Given the description of an element on the screen output the (x, y) to click on. 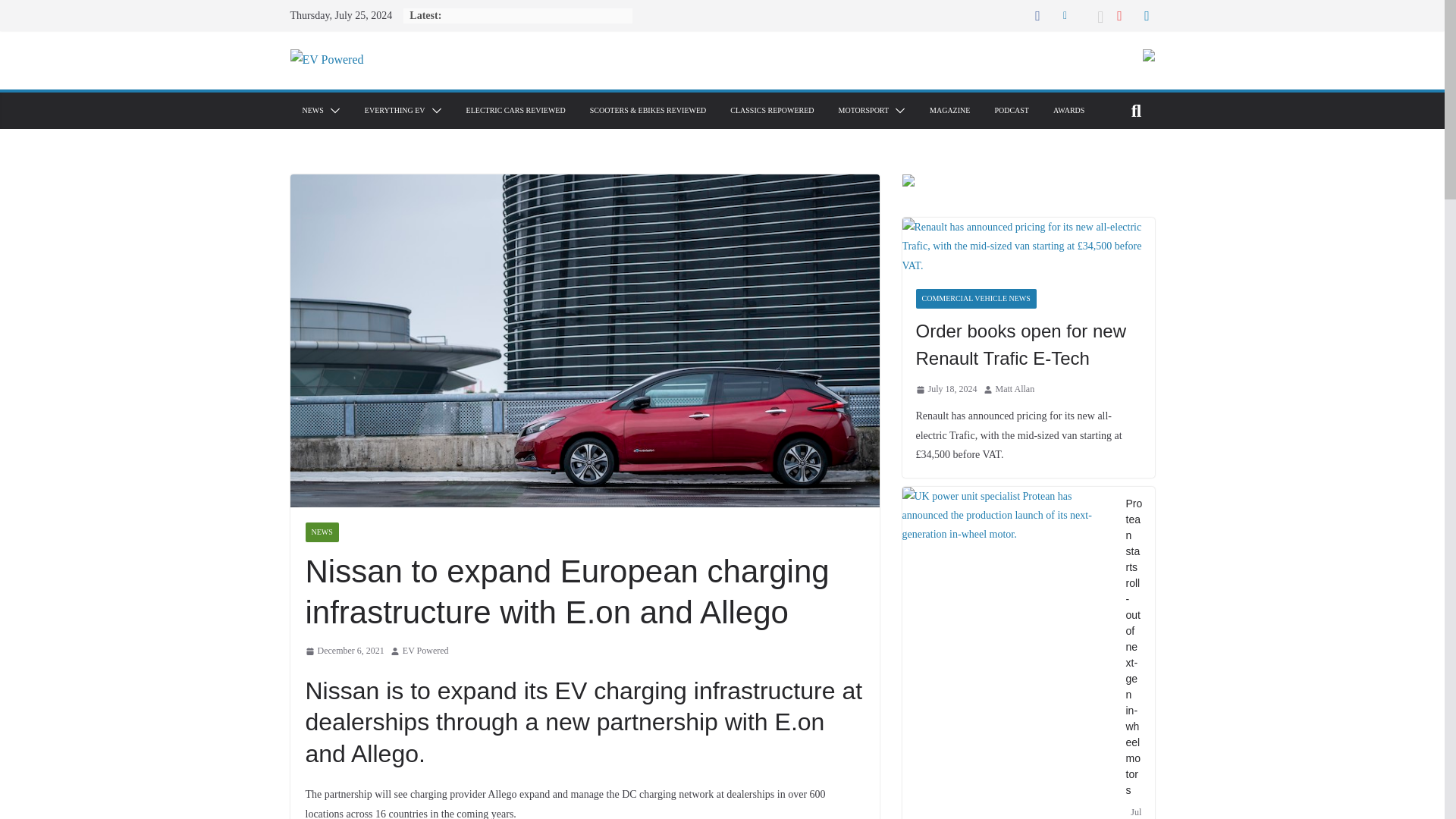
NEWS (312, 110)
December 6, 2021 (344, 651)
EVERYTHING EV (395, 110)
NEWS (320, 532)
PODCAST (1011, 110)
AWARDS (1068, 110)
EV Powered (425, 651)
EV Powered (425, 651)
8:39 am (344, 651)
MAGAZINE (949, 110)
MOTORSPORT (863, 110)
ELECTRIC CARS REVIEWED (515, 110)
CLASSICS REPOWERED (771, 110)
